Given the description of an element on the screen output the (x, y) to click on. 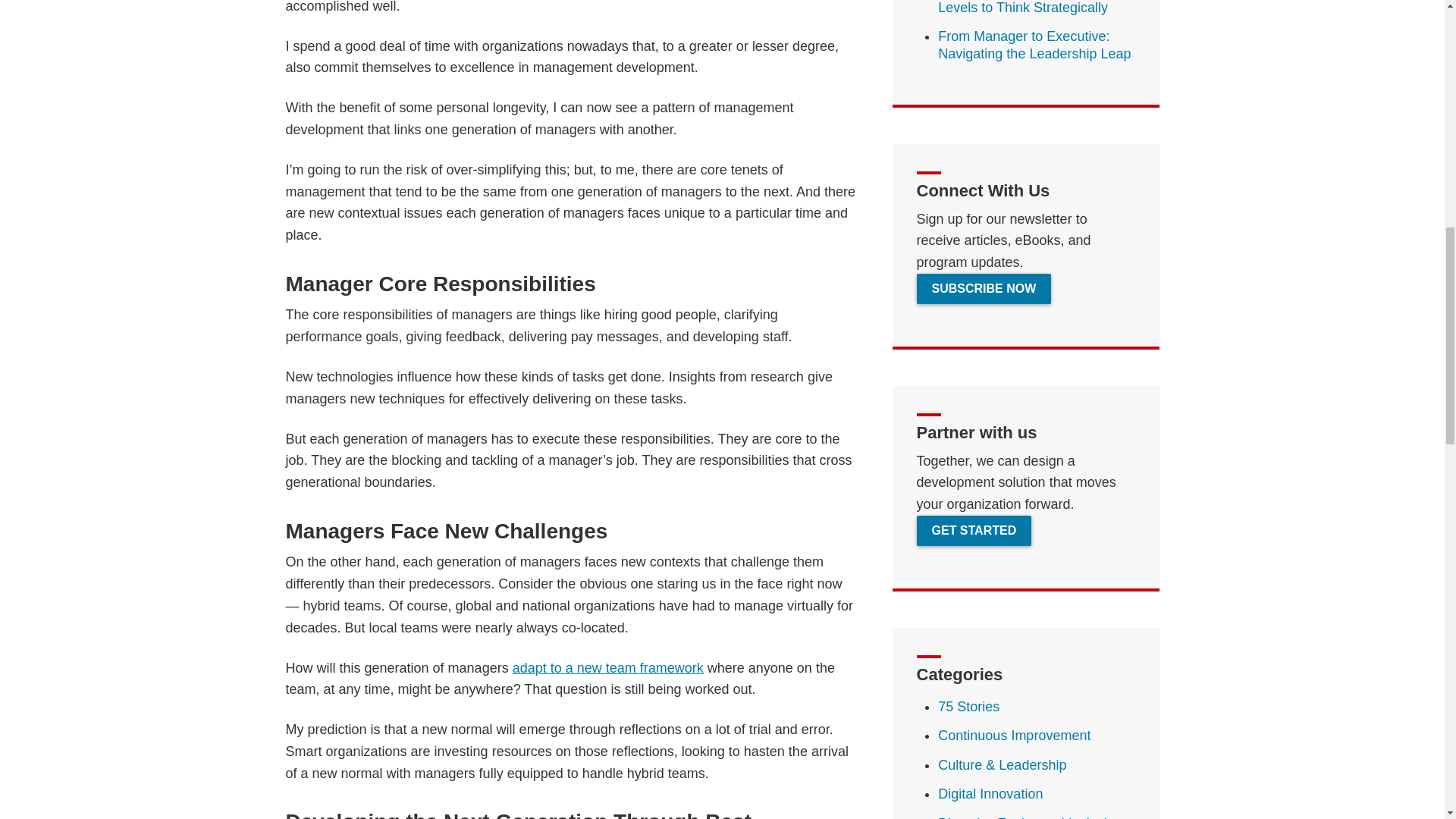
From Manager to Executive: Navigating the Leadership Leap (1034, 44)
GET STARTED (974, 530)
Empower Team Members at All Levels to Think Strategically (1031, 7)
SUBSCRIBE NOW (984, 288)
adapt to a new team framework (607, 667)
